Given the description of an element on the screen output the (x, y) to click on. 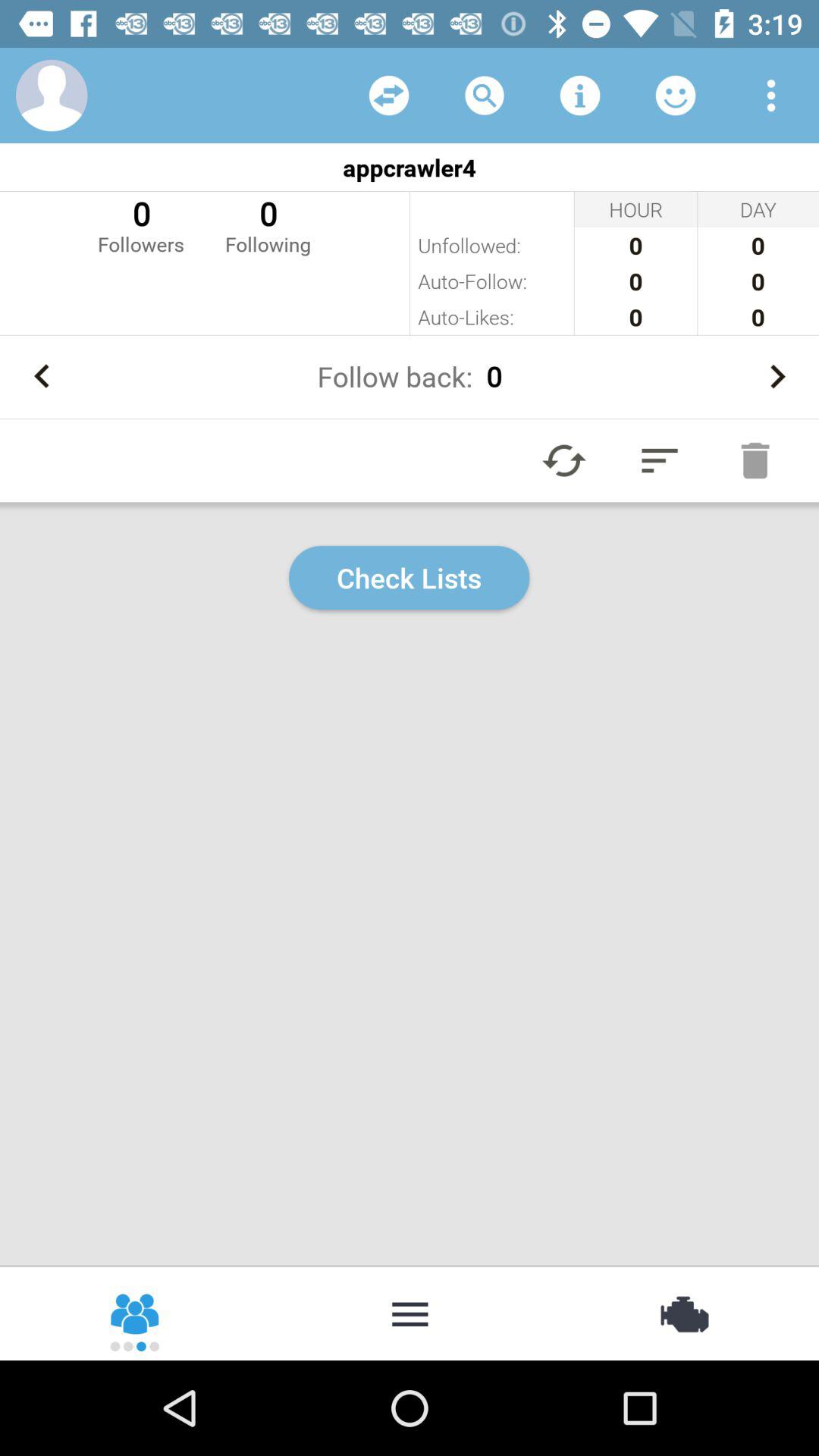
information option (579, 95)
